Given the description of an element on the screen output the (x, y) to click on. 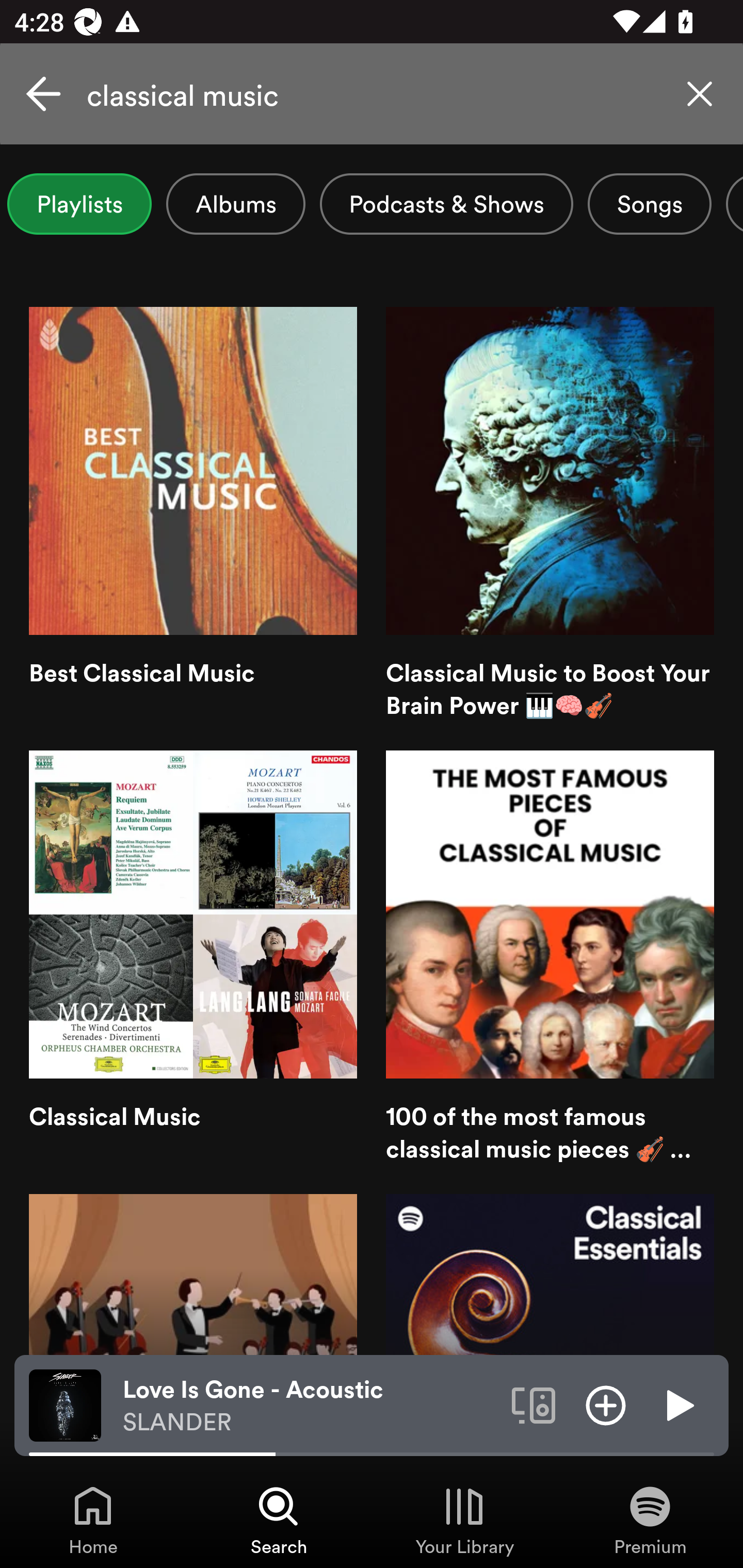
classical music (371, 93)
Cancel (43, 93)
Clear search query (699, 93)
Playlists (79, 203)
Albums (235, 203)
Podcasts & Shows (446, 203)
Songs (649, 203)
Best Classical Music (192, 514)
Classical Music to Boost Your Brain Power 🎹🧠🎻 (549, 514)
Classical Music (192, 958)
Love Is Gone - Acoustic SLANDER (309, 1405)
The cover art of the currently playing track (64, 1404)
Connect to a device. Opens the devices menu (533, 1404)
Add item (605, 1404)
Play (677, 1404)
Home, Tab 1 of 4 Home Home (92, 1519)
Search, Tab 2 of 4 Search Search (278, 1519)
Your Library, Tab 3 of 4 Your Library Your Library (464, 1519)
Premium, Tab 4 of 4 Premium Premium (650, 1519)
